Given the description of an element on the screen output the (x, y) to click on. 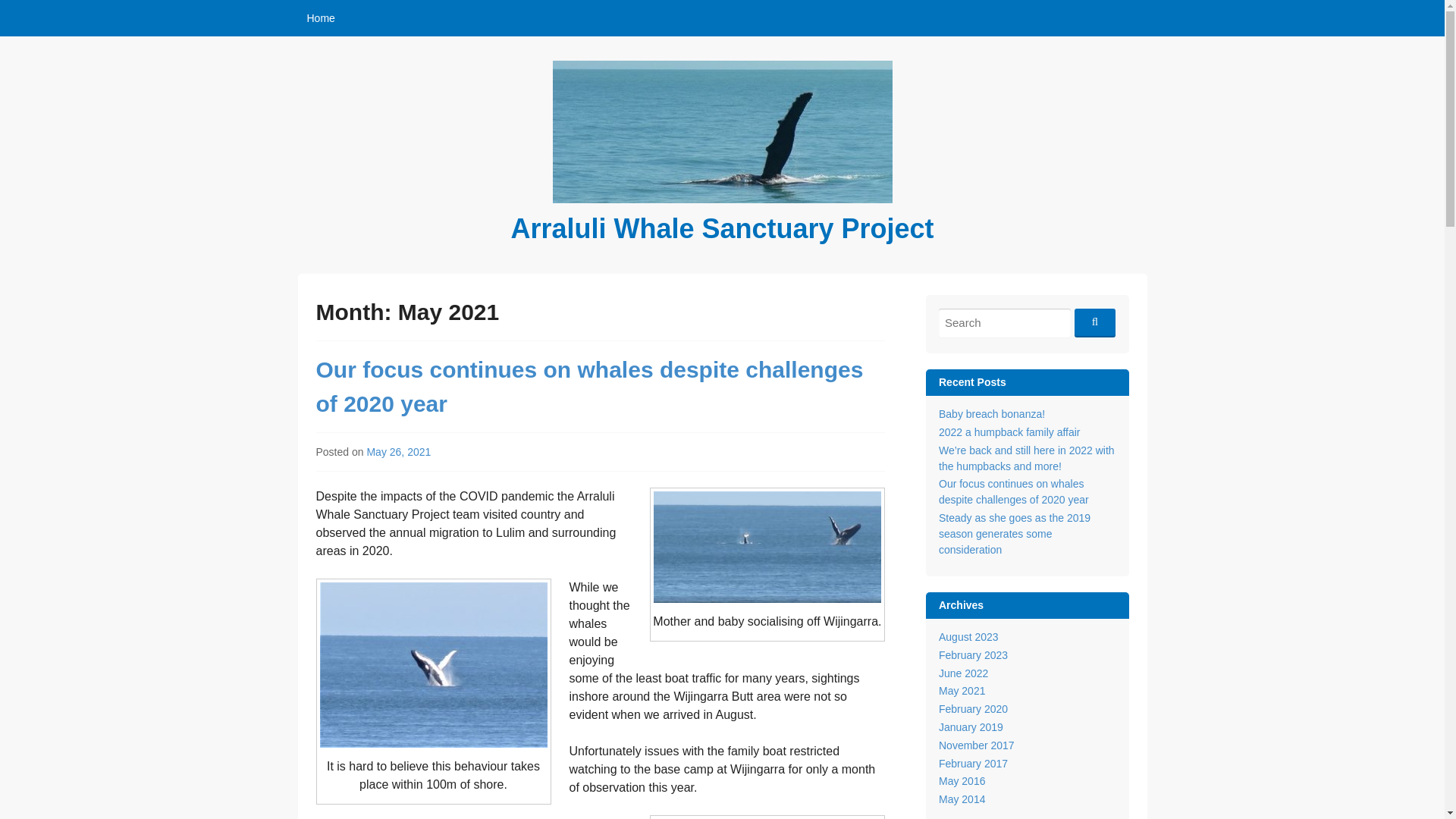
Home (320, 18)
February 2020 (973, 708)
May 2014 (962, 799)
2022 a humpback family affair (1009, 431)
June 2022 (963, 673)
May 26, 2021 (398, 451)
November 2017 (976, 745)
Baby breach bonanza! (992, 413)
January 2019 (971, 727)
